Given the description of an element on the screen output the (x, y) to click on. 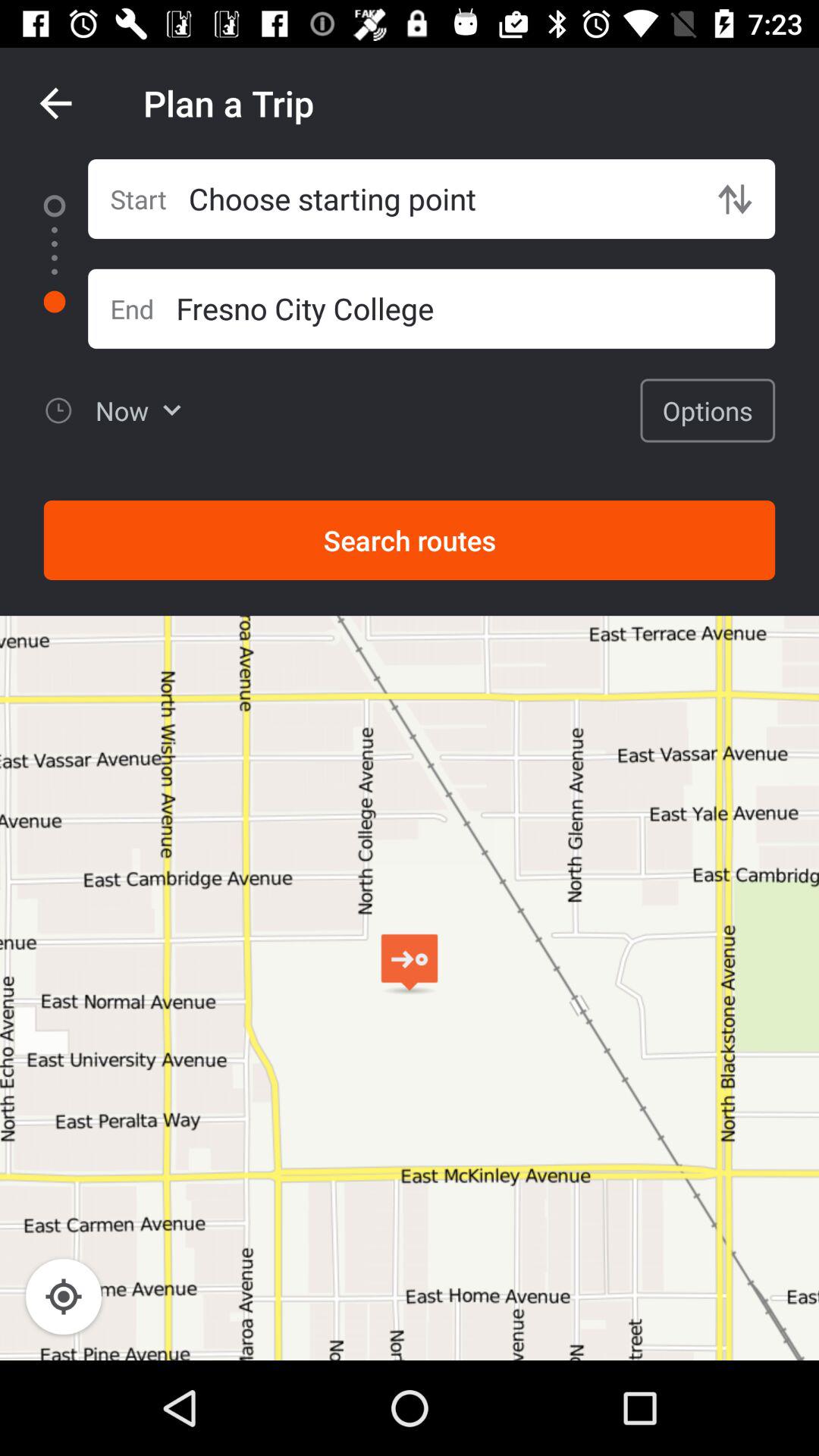
launch icon to the right of the end icon (475, 308)
